Given the description of an element on the screen output the (x, y) to click on. 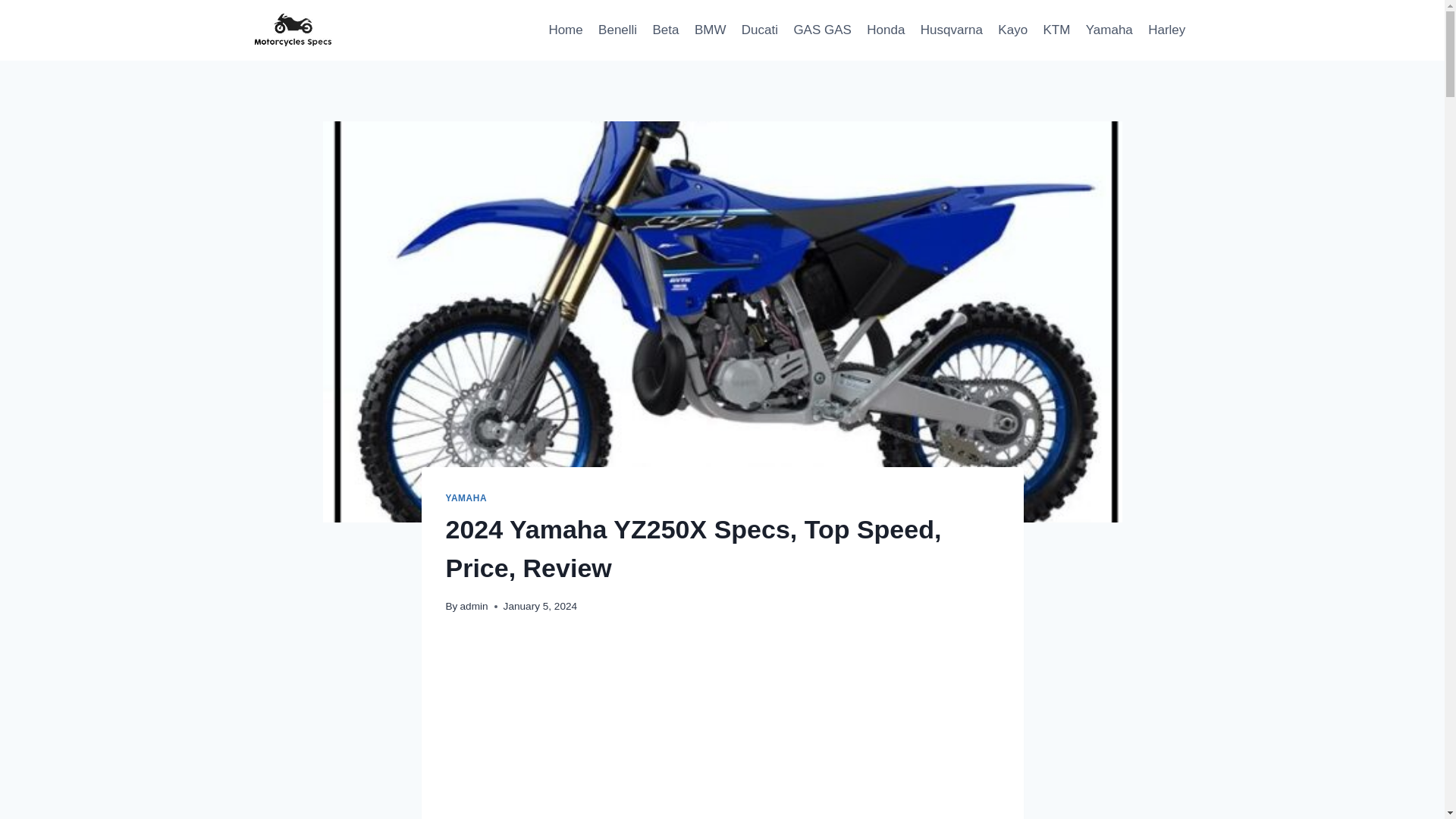
Kayo (1012, 30)
Benelli (618, 30)
Beta (665, 30)
Advertisement (721, 729)
Yamaha (1109, 30)
Ducati (759, 30)
Husqvarna (951, 30)
YAMAHA (466, 498)
Home (565, 30)
GAS GAS (822, 30)
